Given the description of an element on the screen output the (x, y) to click on. 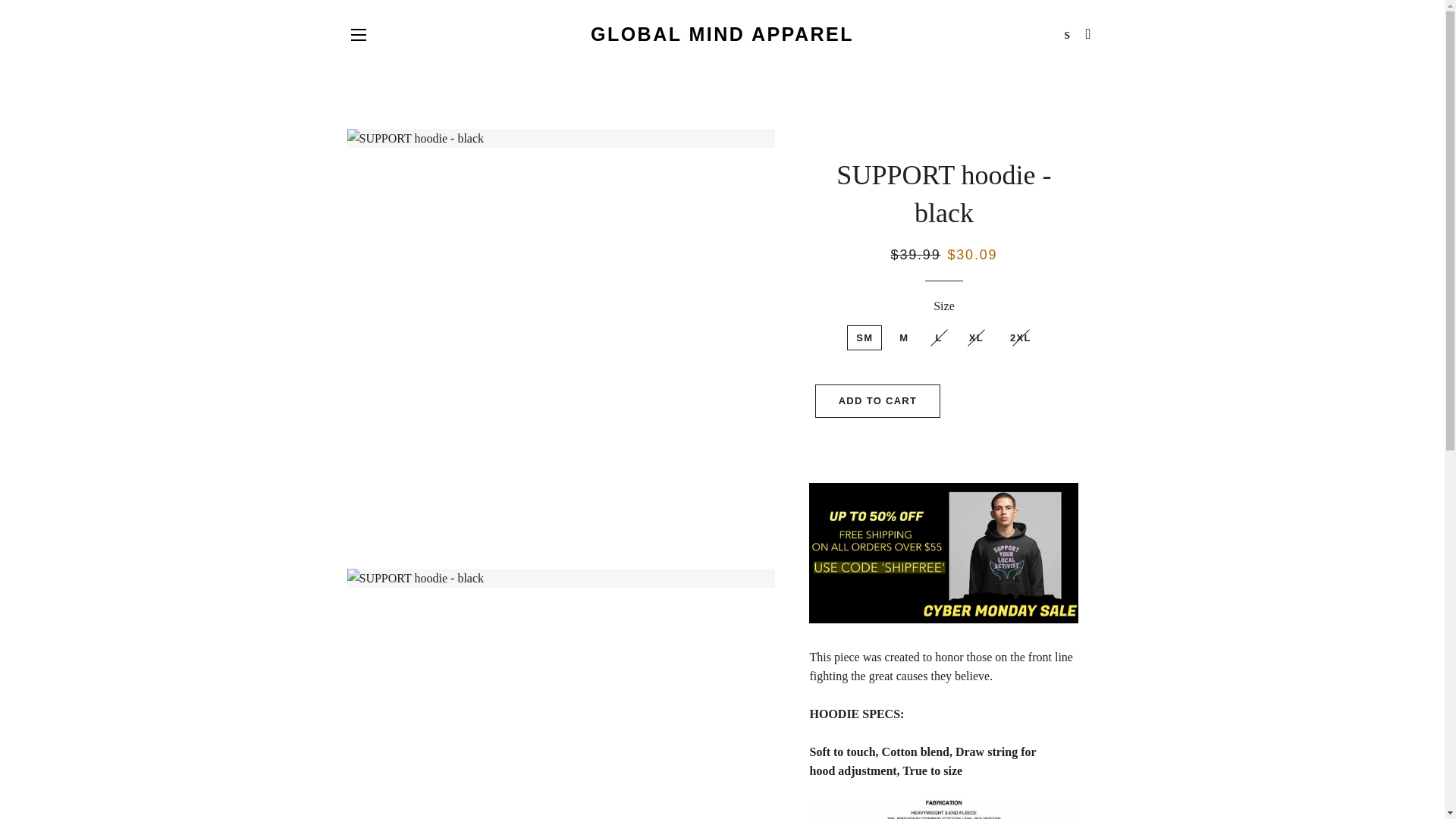
GLOBAL MIND APPAREL (721, 34)
SITE NAVIGATION (358, 34)
